Given the description of an element on the screen output the (x, y) to click on. 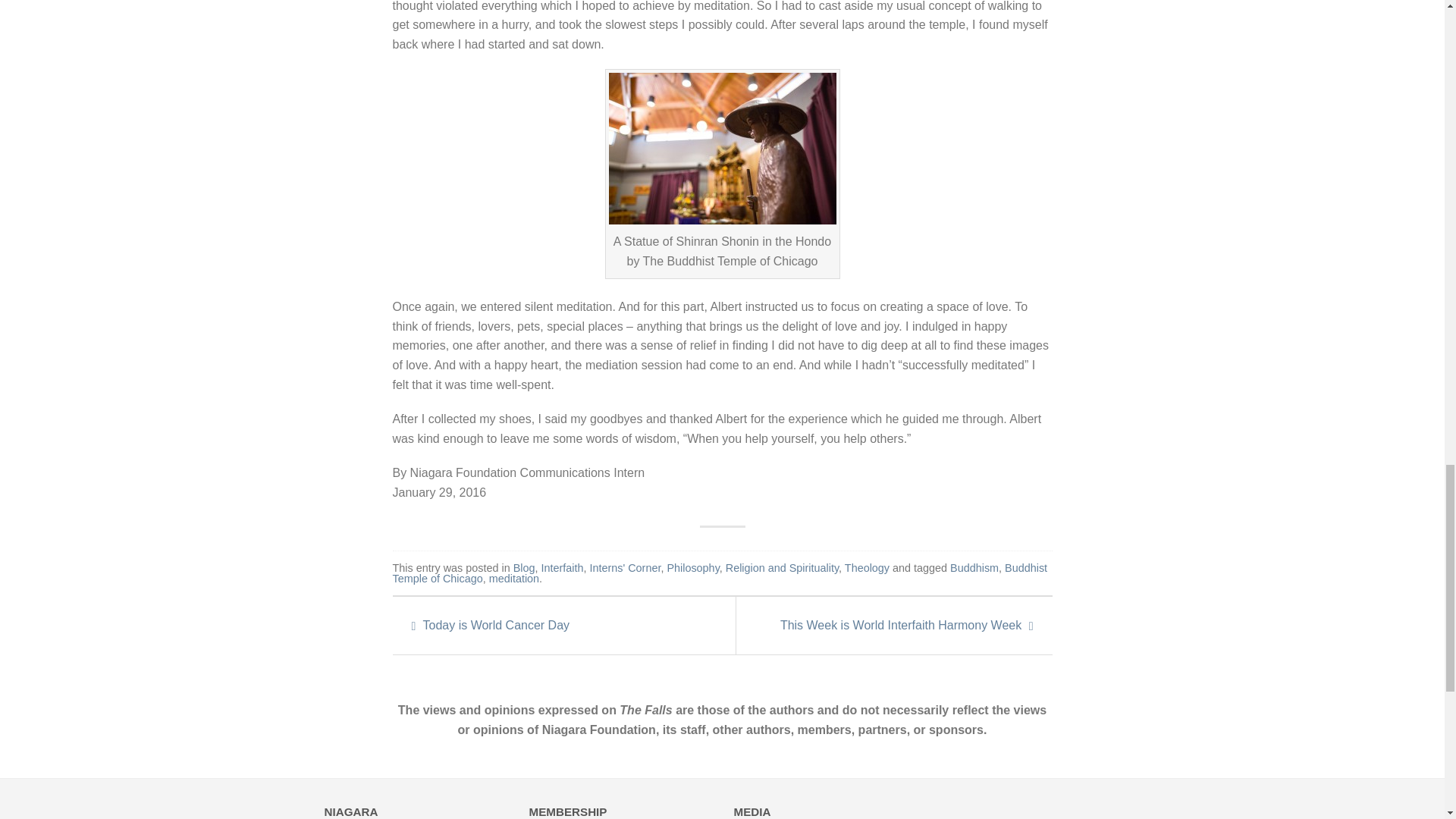
A Statue of Shinran Shonin in the Hondo (721, 148)
